Given the description of an element on the screen output the (x, y) to click on. 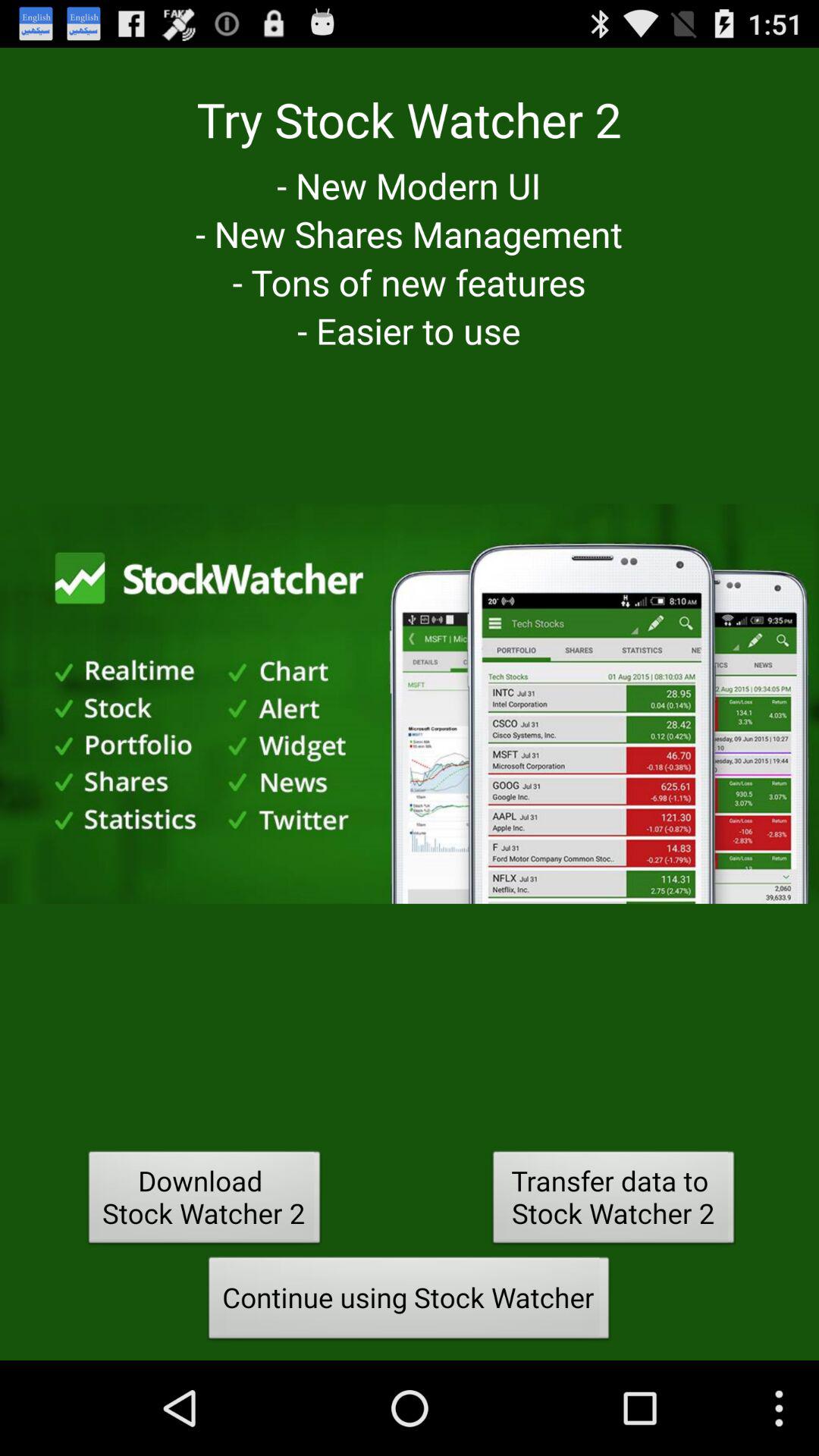
click the transfer data to (613, 1201)
